Given the description of an element on the screen output the (x, y) to click on. 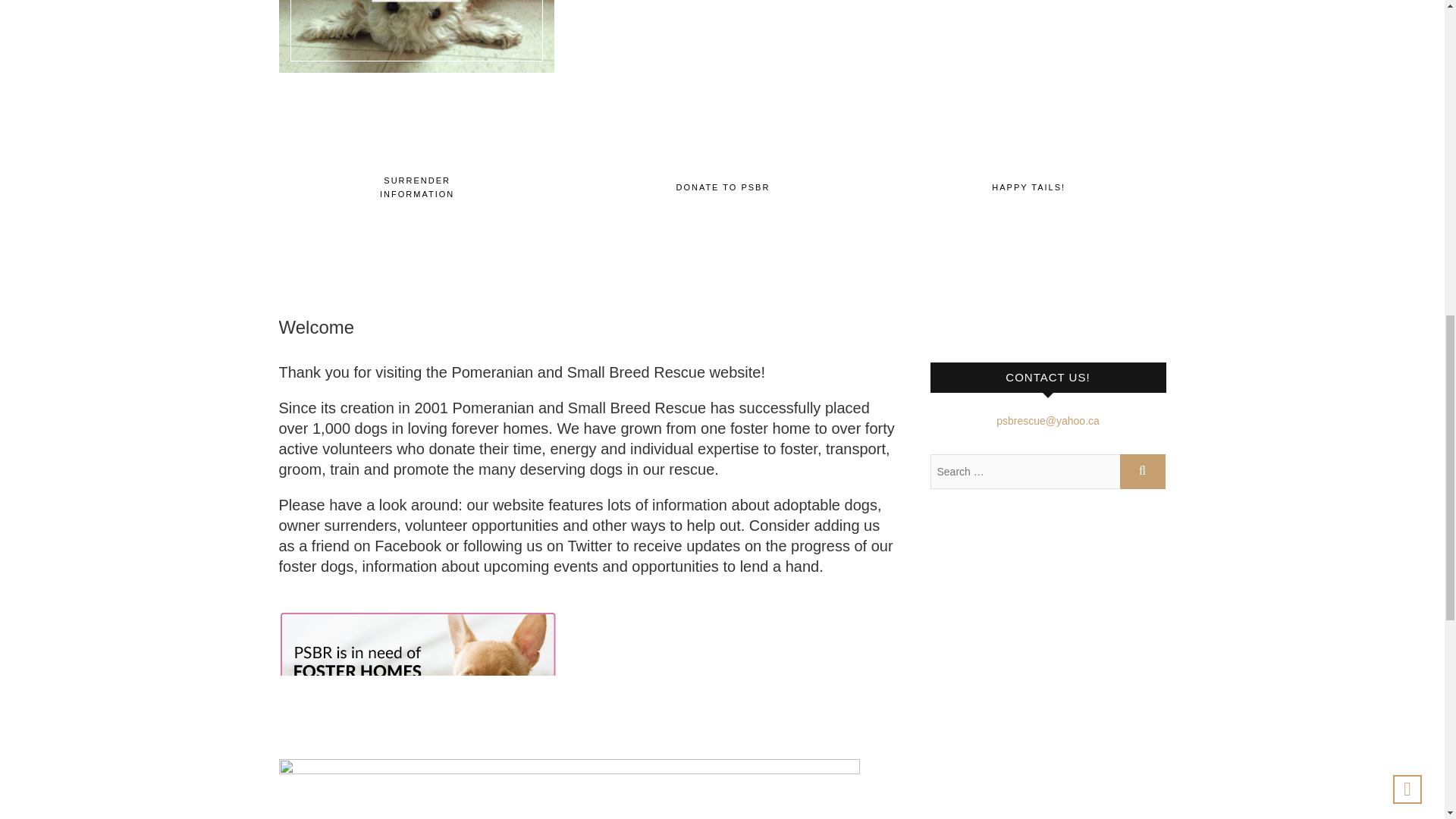
Happy Tails! (1027, 186)
About PSBR (416, 36)
Apply to Be a Foster (1027, 36)
Donate to PSBR (722, 186)
Surrender Information (416, 186)
Adoptable Dogs (722, 36)
